Given the description of an element on the screen output the (x, y) to click on. 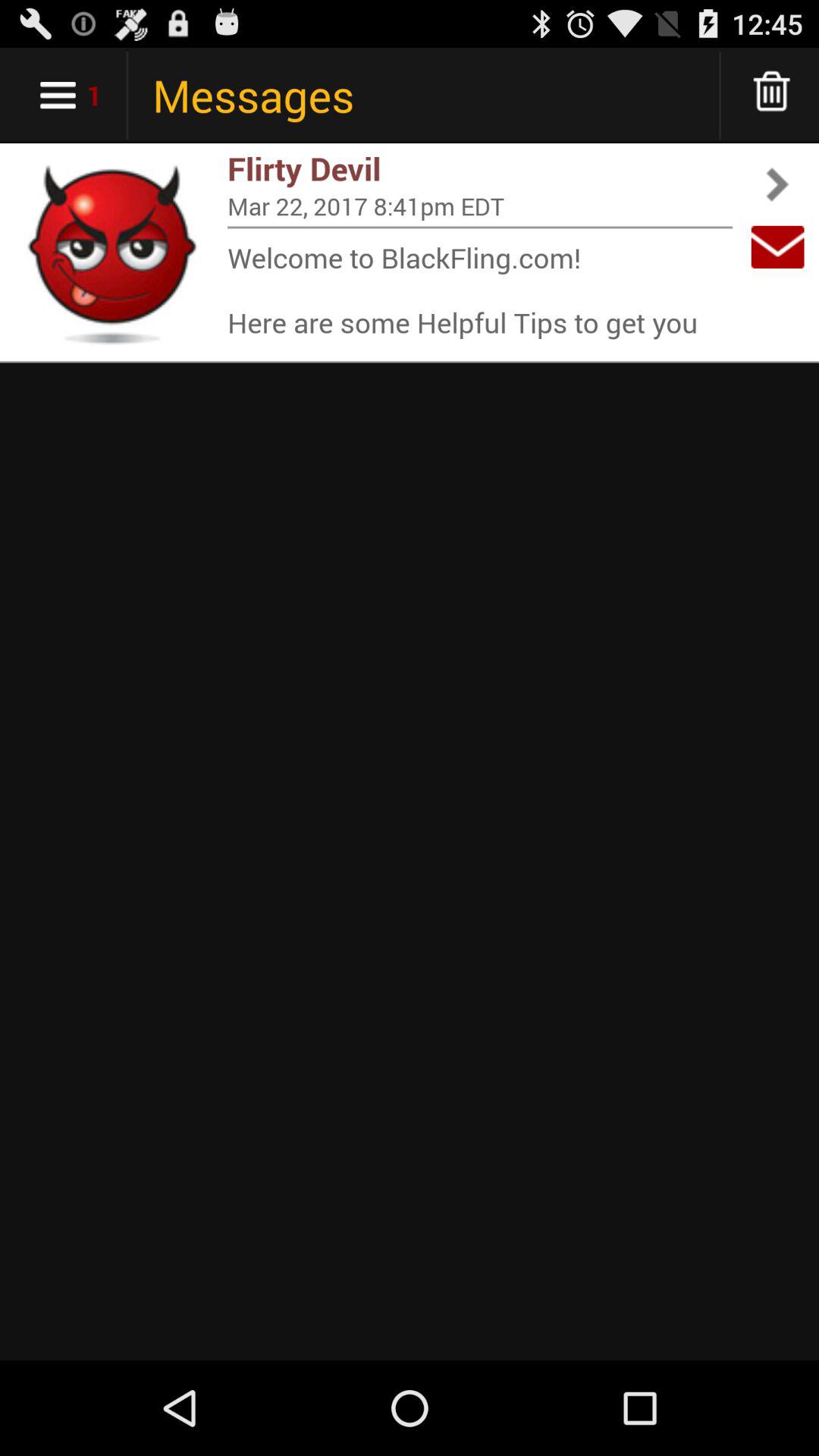
delete (772, 95)
